Given the description of an element on the screen output the (x, y) to click on. 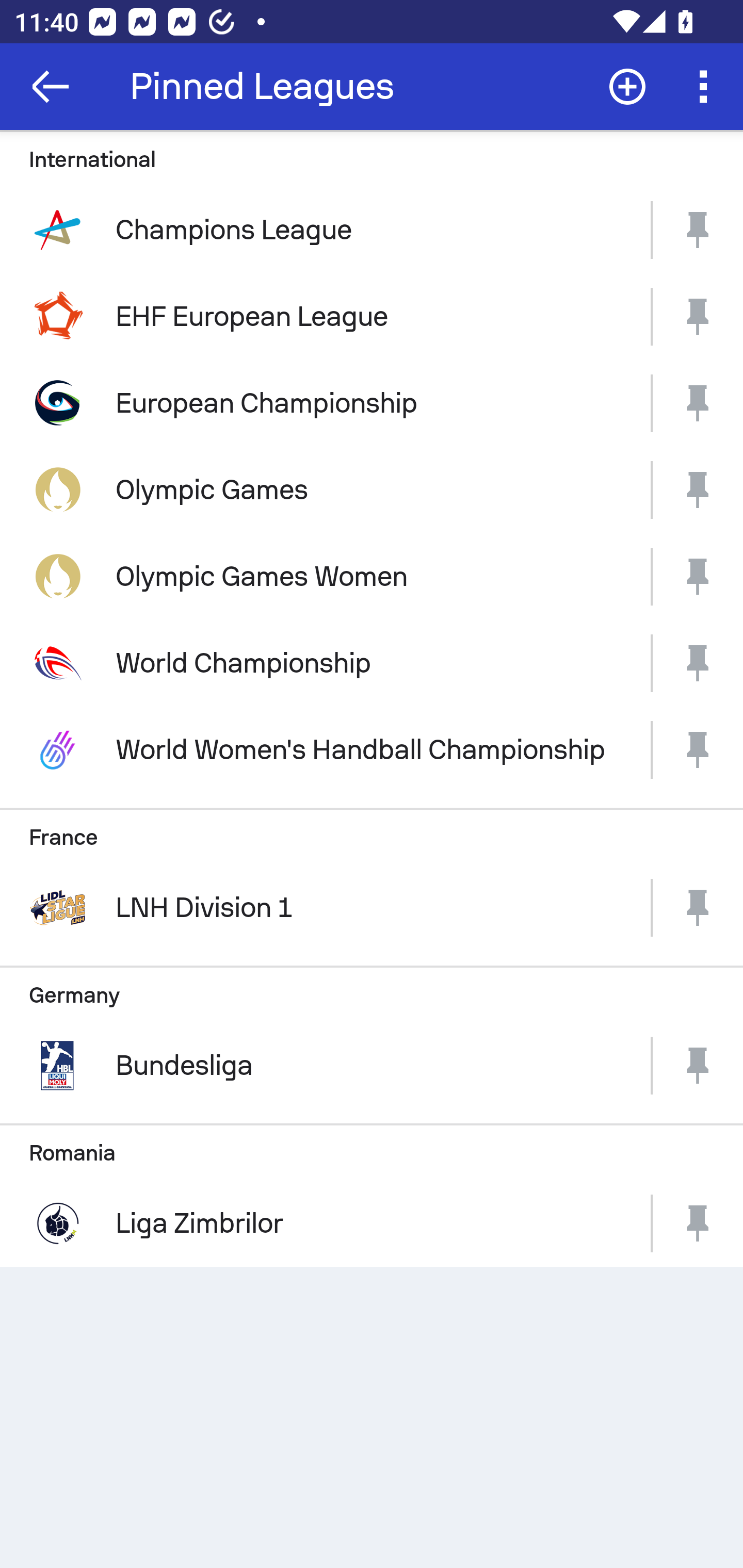
Navigate up (50, 86)
Add league (626, 86)
More options (706, 86)
International (371, 158)
picture Champions League picture picture (371, 229)
picture (697, 229)
picture EHF European League picture picture (371, 316)
picture (697, 316)
picture European Championship picture picture (371, 403)
picture (697, 403)
picture Olympic Games picture picture (371, 489)
picture (697, 489)
picture Olympic Games Women picture picture (371, 576)
picture (697, 576)
picture World Championship picture picture (371, 663)
picture (697, 663)
picture (697, 750)
France (371, 828)
picture LNH Division 1 picture picture (371, 907)
picture (697, 907)
Germany (371, 986)
picture Bundesliga picture picture (371, 1065)
picture (697, 1065)
Romania (371, 1144)
picture Liga Zimbrilor picture picture (371, 1223)
picture (697, 1223)
